Given the description of an element on the screen output the (x, y) to click on. 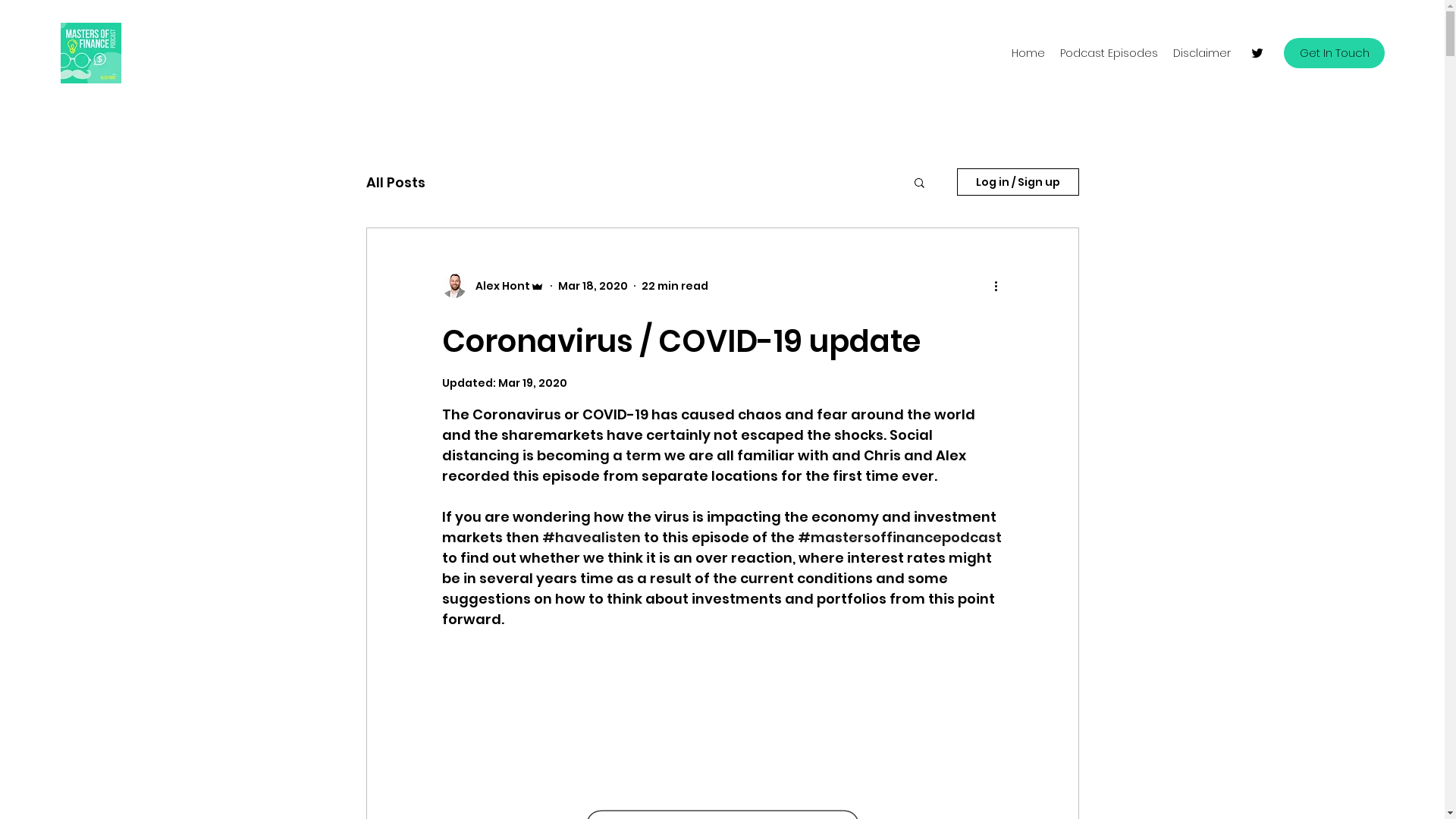
Disclaimer Element type: text (1201, 52)
All Posts Element type: text (394, 181)
#havealisten Element type: text (590, 536)
Podcast Episodes Element type: text (1108, 52)
#mastersoffinancepodcast Element type: text (899, 536)
Log in / Sign up Element type: text (1018, 181)
Get In Touch Element type: text (1333, 52)
Home Element type: text (1028, 52)
